Given the description of an element on the screen output the (x, y) to click on. 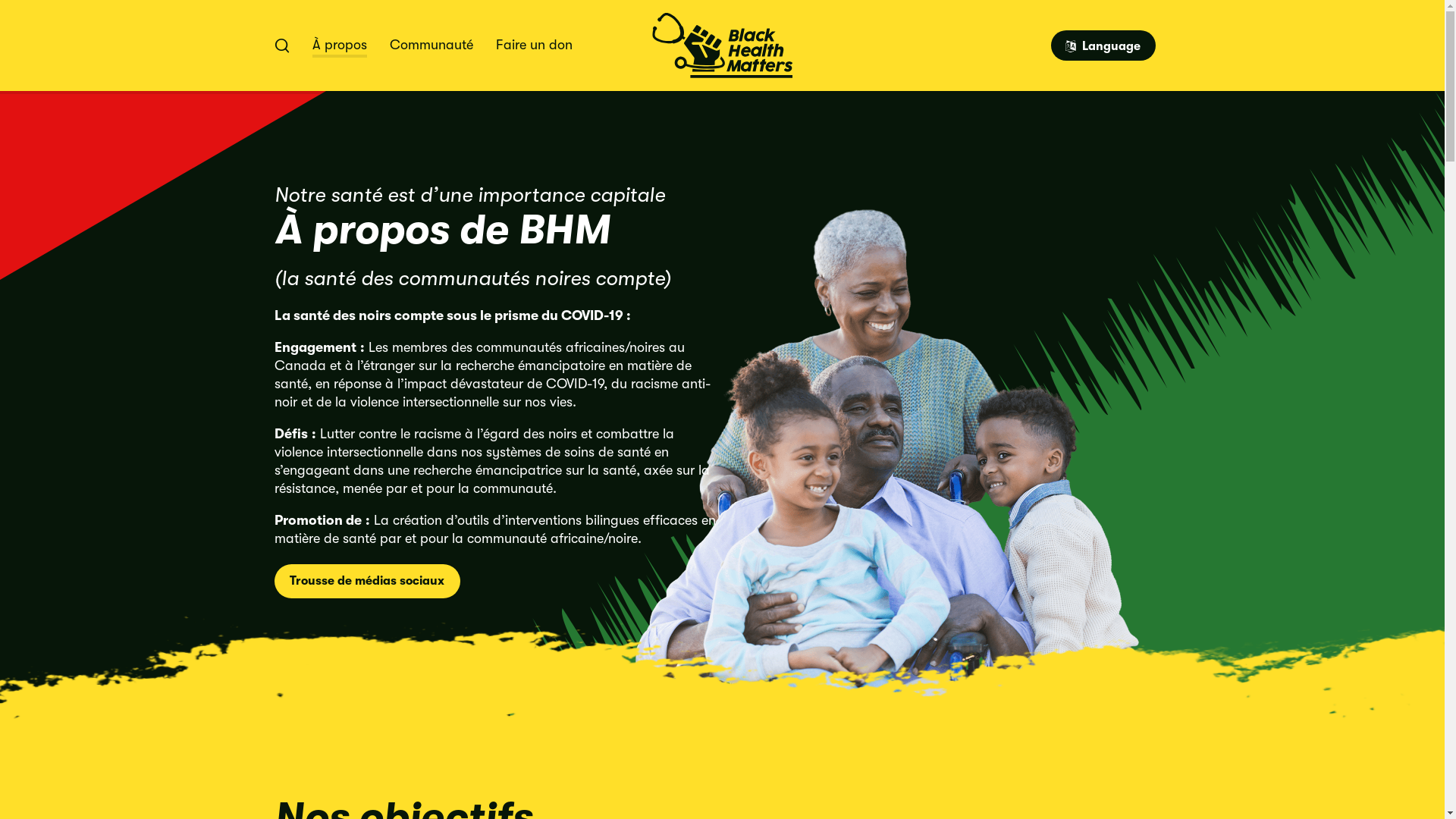
Faire un don Element type: text (533, 45)
Language Element type: text (1102, 44)
Chercher Element type: text (281, 45)
